Given the description of an element on the screen output the (x, y) to click on. 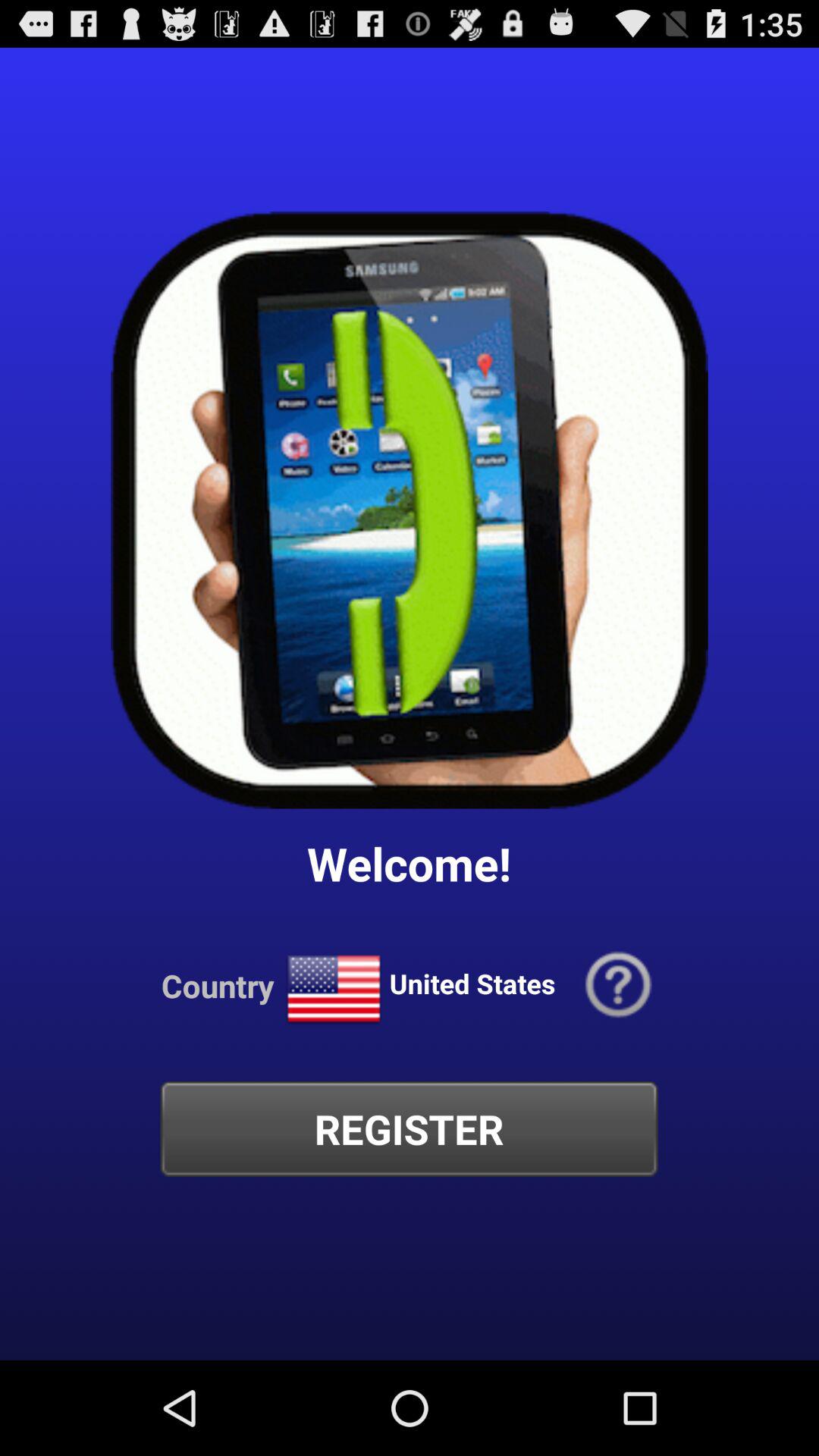
turn on button above the register icon (333, 989)
